Given the description of an element on the screen output the (x, y) to click on. 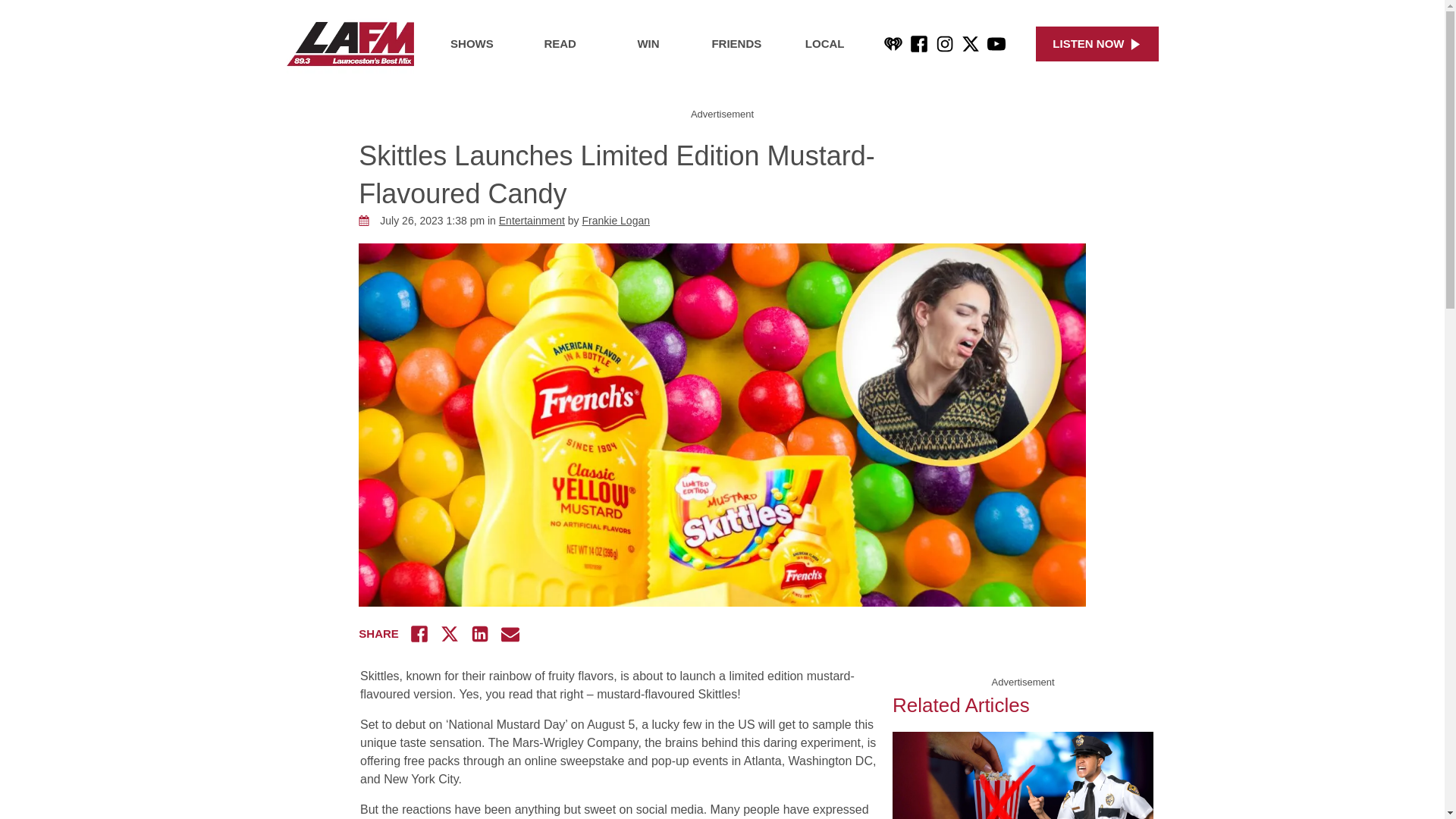
iHeart (892, 44)
LISTEN NOW (1096, 44)
Instagram (944, 44)
YouTube (996, 44)
WIN (648, 43)
Posts by Frankie Logan (616, 220)
SHOWS (471, 43)
FRIENDS (736, 43)
READ (560, 43)
Facebook (919, 44)
LOCAL (824, 43)
